Given the description of an element on the screen output the (x, y) to click on. 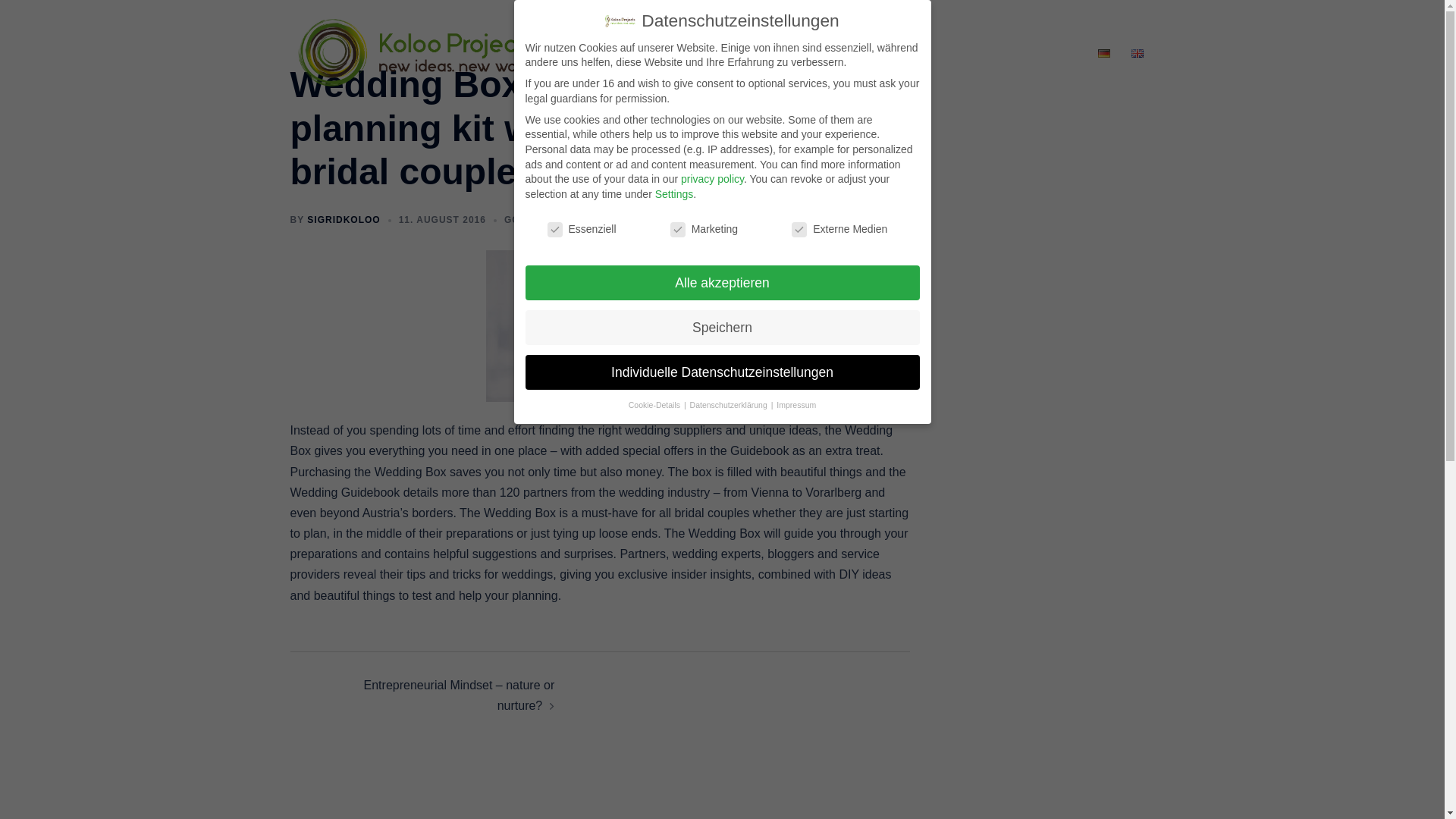
privacy policy (712, 178)
Koloo Projects (415, 51)
GOOD IDEAS (536, 219)
Insights (786, 53)
Speichern (721, 327)
ESG Blog (1004, 53)
Cookie-Details (655, 404)
Impressum (795, 404)
Individuelle Datenschutzeinstellungen (721, 371)
SIGRIDKOLOO (343, 219)
